Given the description of an element on the screen output the (x, y) to click on. 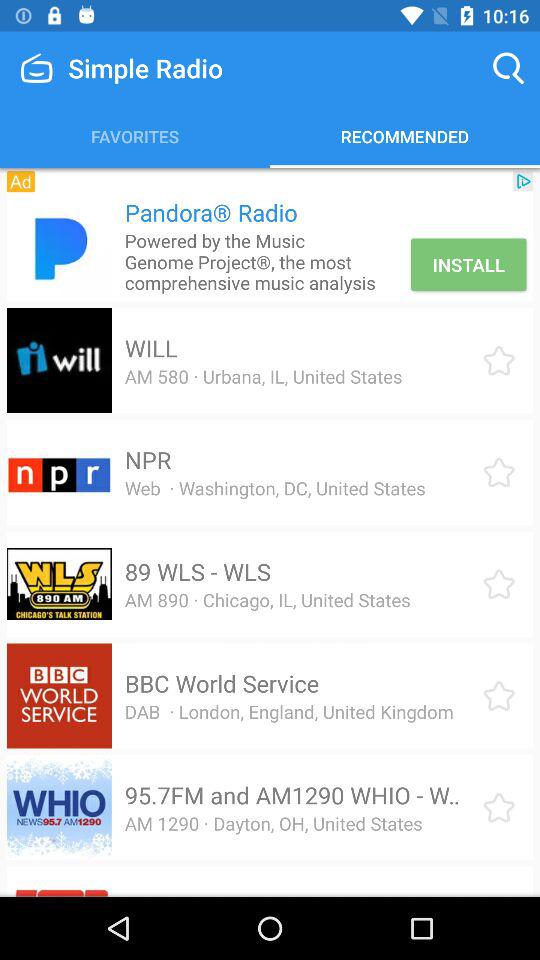
select the item below the will icon (263, 376)
